Given the description of an element on the screen output the (x, y) to click on. 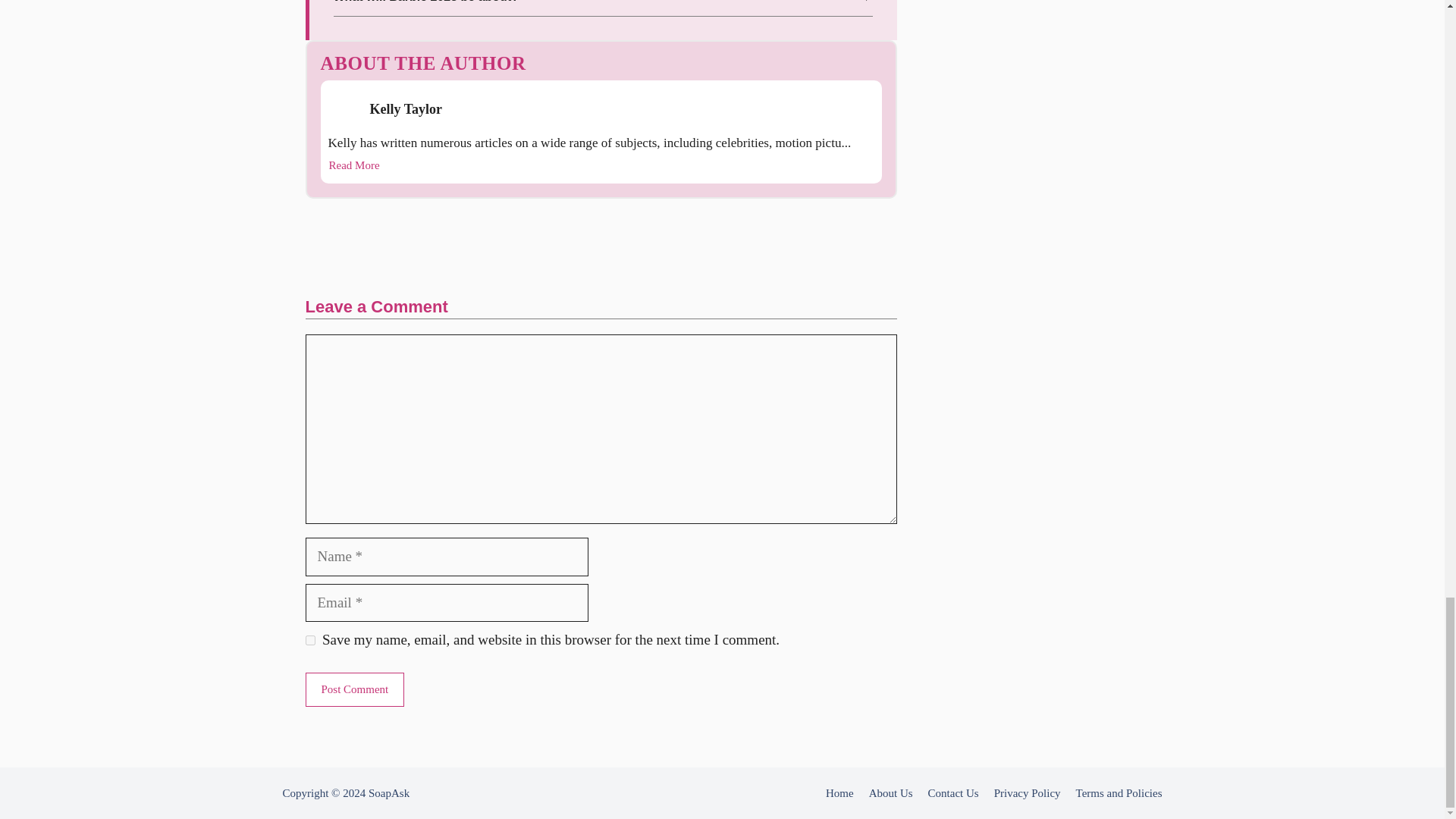
yes (309, 640)
Post Comment (354, 689)
